Given the description of an element on the screen output the (x, y) to click on. 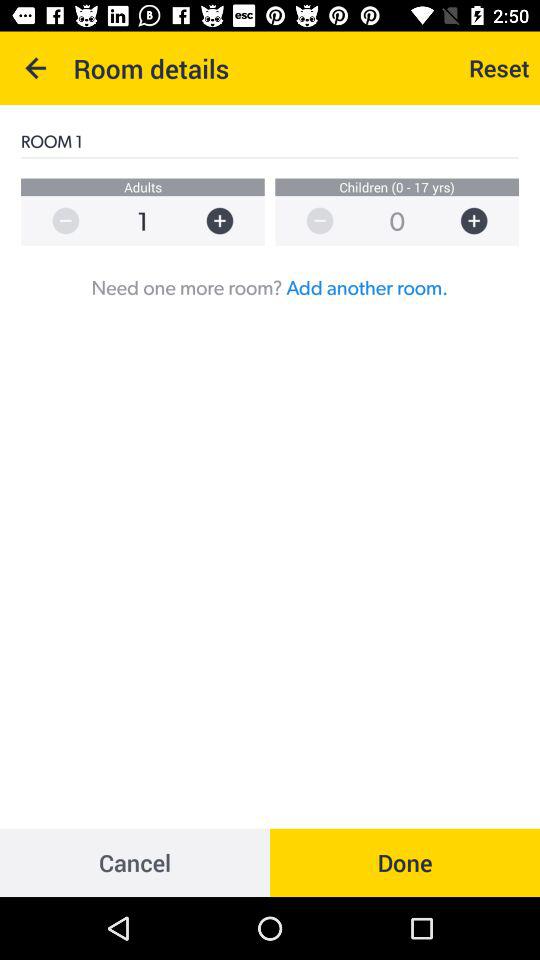
choose icon below need one more icon (135, 862)
